Given the description of an element on the screen output the (x, y) to click on. 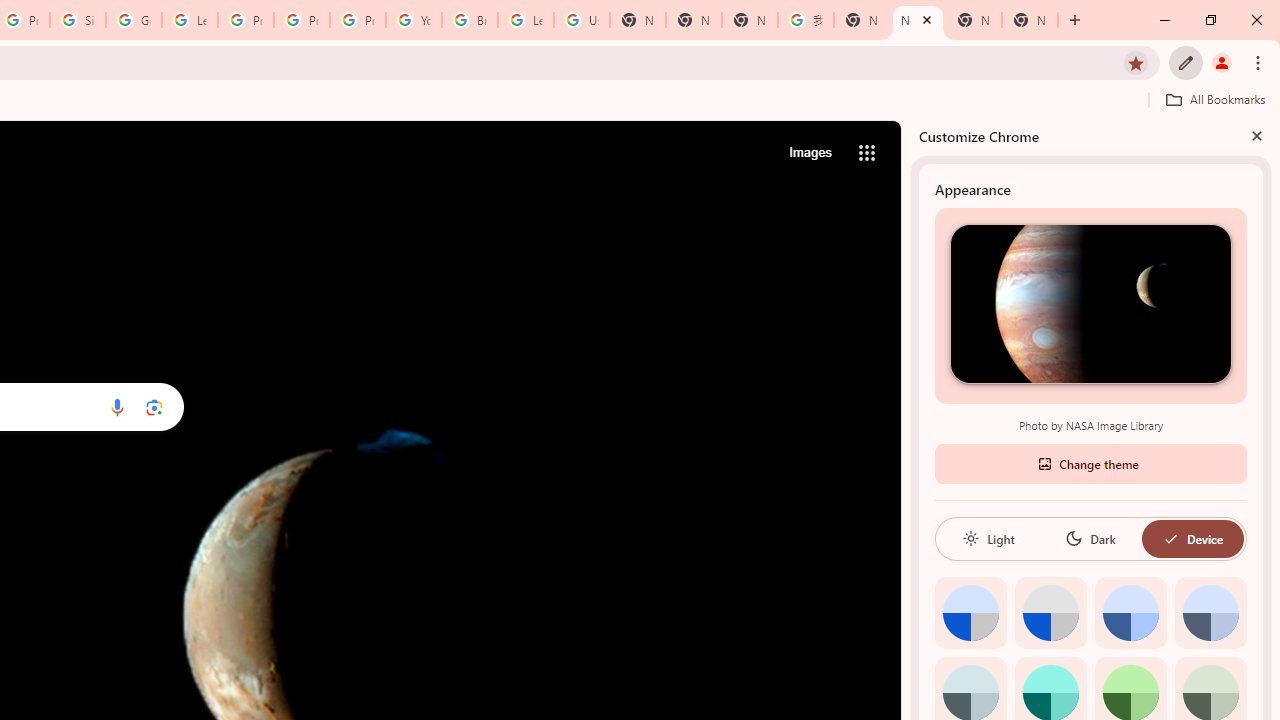
Google apps (867, 152)
Default color (970, 612)
Cool grey (1210, 612)
Search for Images  (810, 152)
Light (988, 538)
Search by voice (116, 407)
Grey default color (1050, 612)
Device (1192, 538)
New Tab (693, 20)
AutomationID: baseSvg (1170, 538)
Search by image (153, 407)
